Given the description of an element on the screen output the (x, y) to click on. 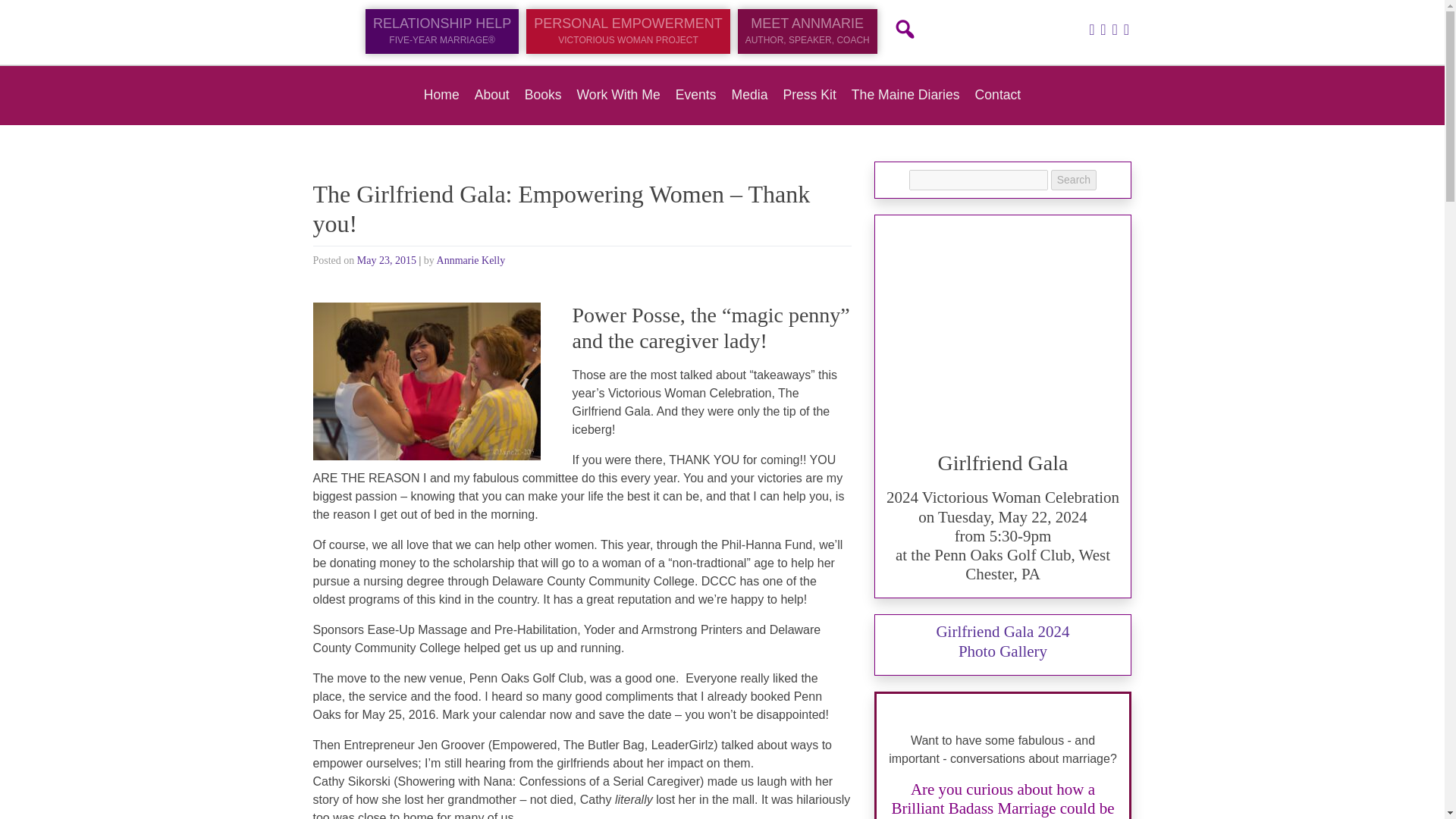
Search (1073, 179)
Events (627, 31)
Annmarie Kelly (695, 94)
Media (470, 260)
Personal EmpowermentVictorious Woman Project (750, 94)
Search (627, 31)
About (900, 24)
Home (491, 94)
Books (441, 94)
